Given the description of an element on the screen output the (x, y) to click on. 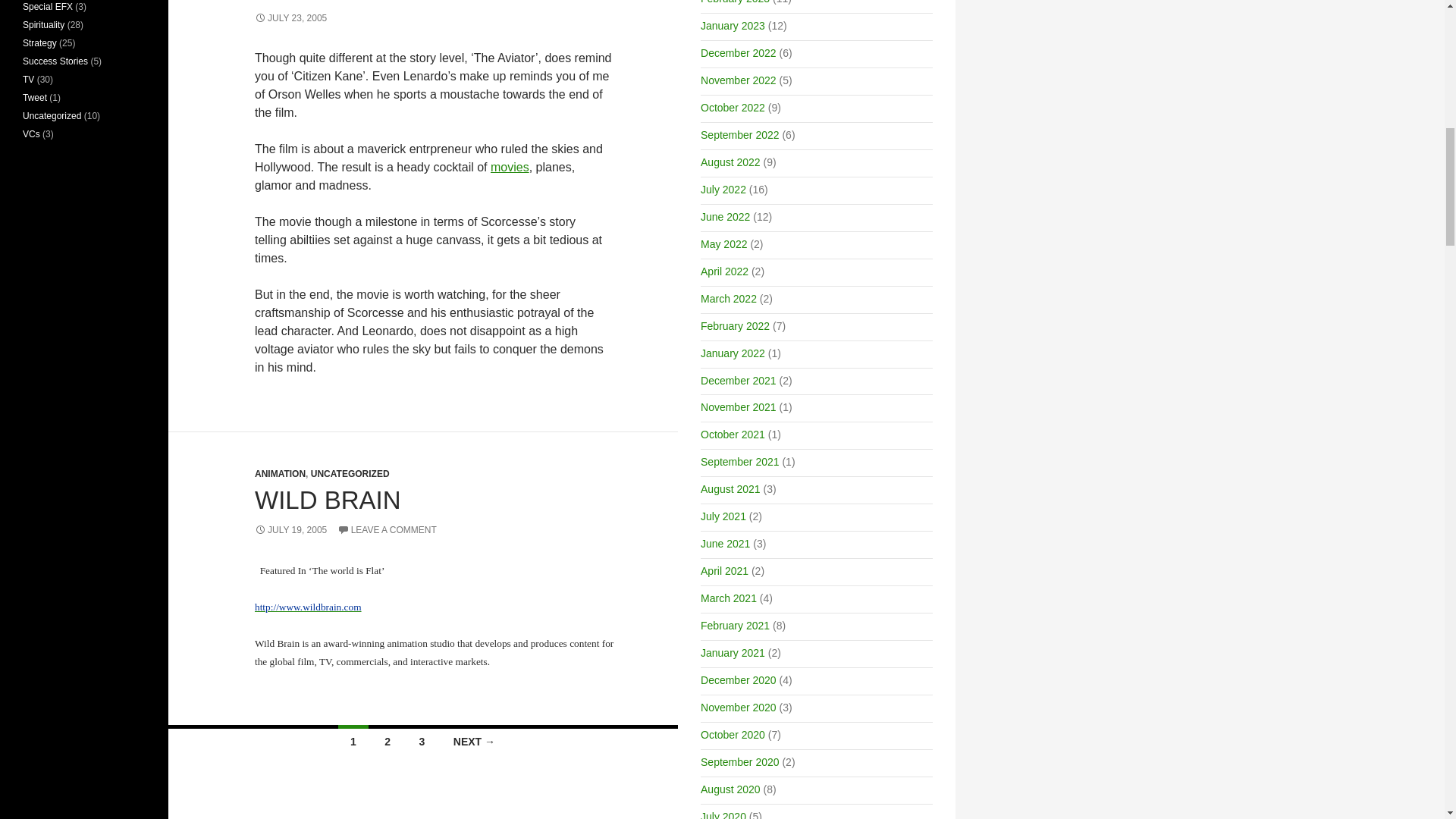
ANIMATION (279, 473)
THE AVIATOR (335, 1)
JULY 23, 2005 (290, 18)
3 (422, 739)
JULY 19, 2005 (290, 529)
2 (387, 739)
LEAVE A COMMENT (386, 529)
WILD BRAIN (327, 500)
UNCATEGORIZED (350, 473)
movies (509, 166)
